Given the description of an element on the screen output the (x, y) to click on. 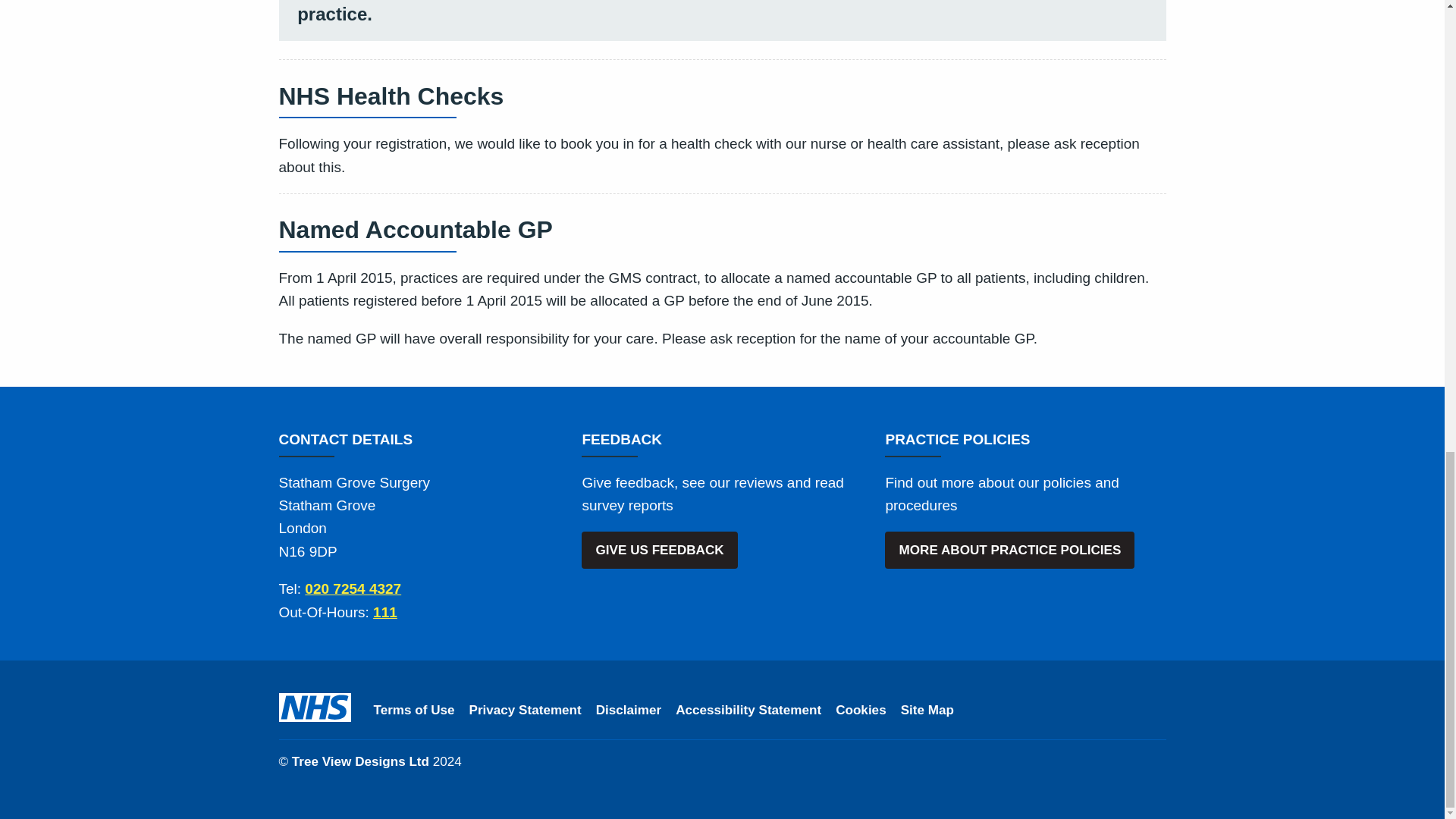
MORE ABOUT PRACTICE POLICIES (1009, 549)
Tree View Designs Ltd (360, 761)
111 (384, 611)
Site Map (927, 710)
020 7254 4327 (352, 588)
Accessibility Statement (748, 710)
Terms of Use (413, 710)
Cookies (860, 710)
Privacy Statement (524, 710)
GIVE US FEEDBACK (658, 549)
The NHS Logo (314, 706)
Disclaimer (628, 710)
